Given the description of an element on the screen output the (x, y) to click on. 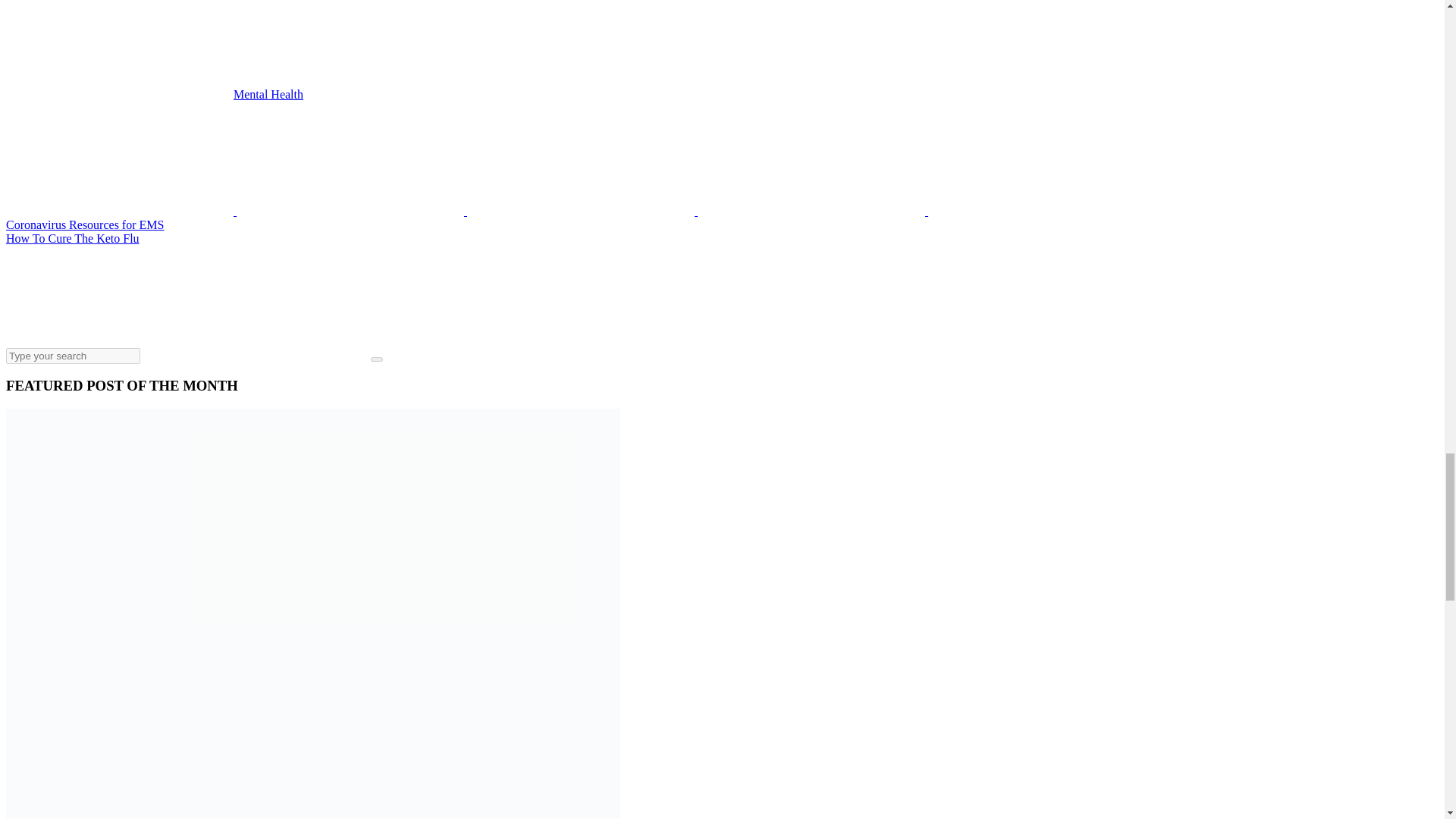
Coronavirus Resources for EMS (84, 224)
How To Cure The Keto Flu (72, 237)
Mental Health (267, 93)
Share on Twitter (120, 210)
